Given the description of an element on the screen output the (x, y) to click on. 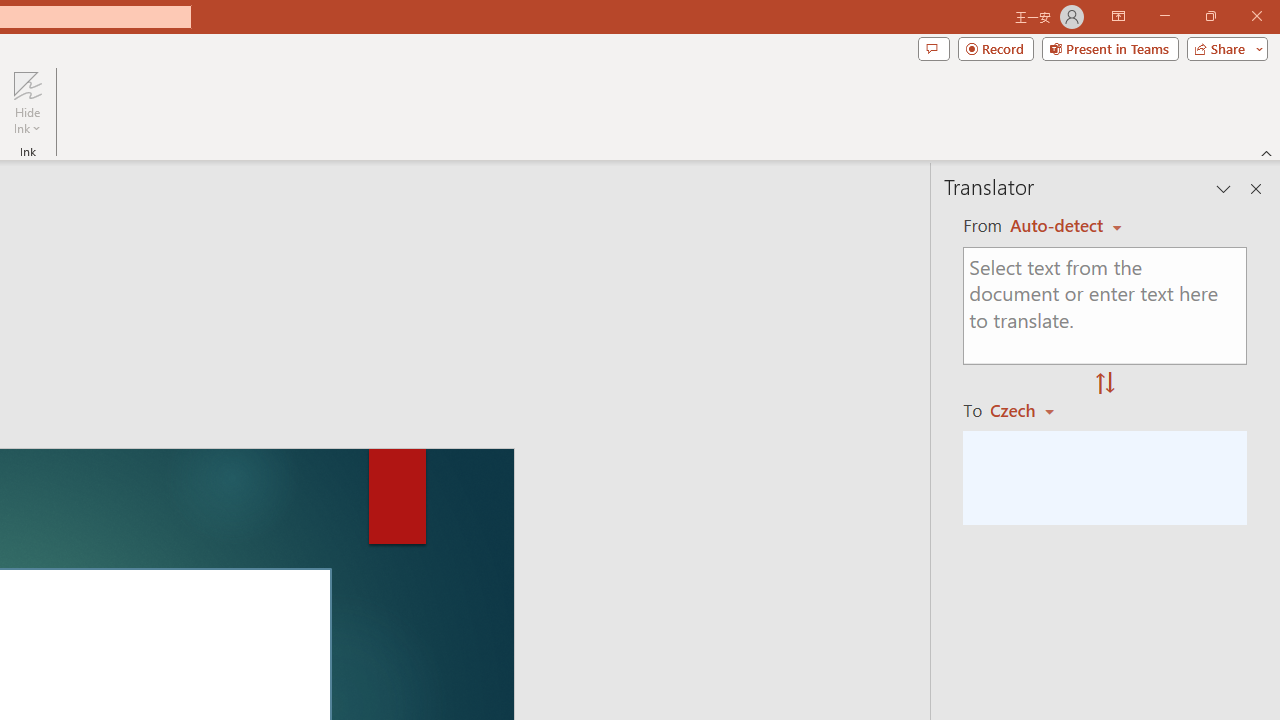
English (1066, 225)
Czech (1030, 409)
Hide Ink (27, 102)
